Given the description of an element on the screen output the (x, y) to click on. 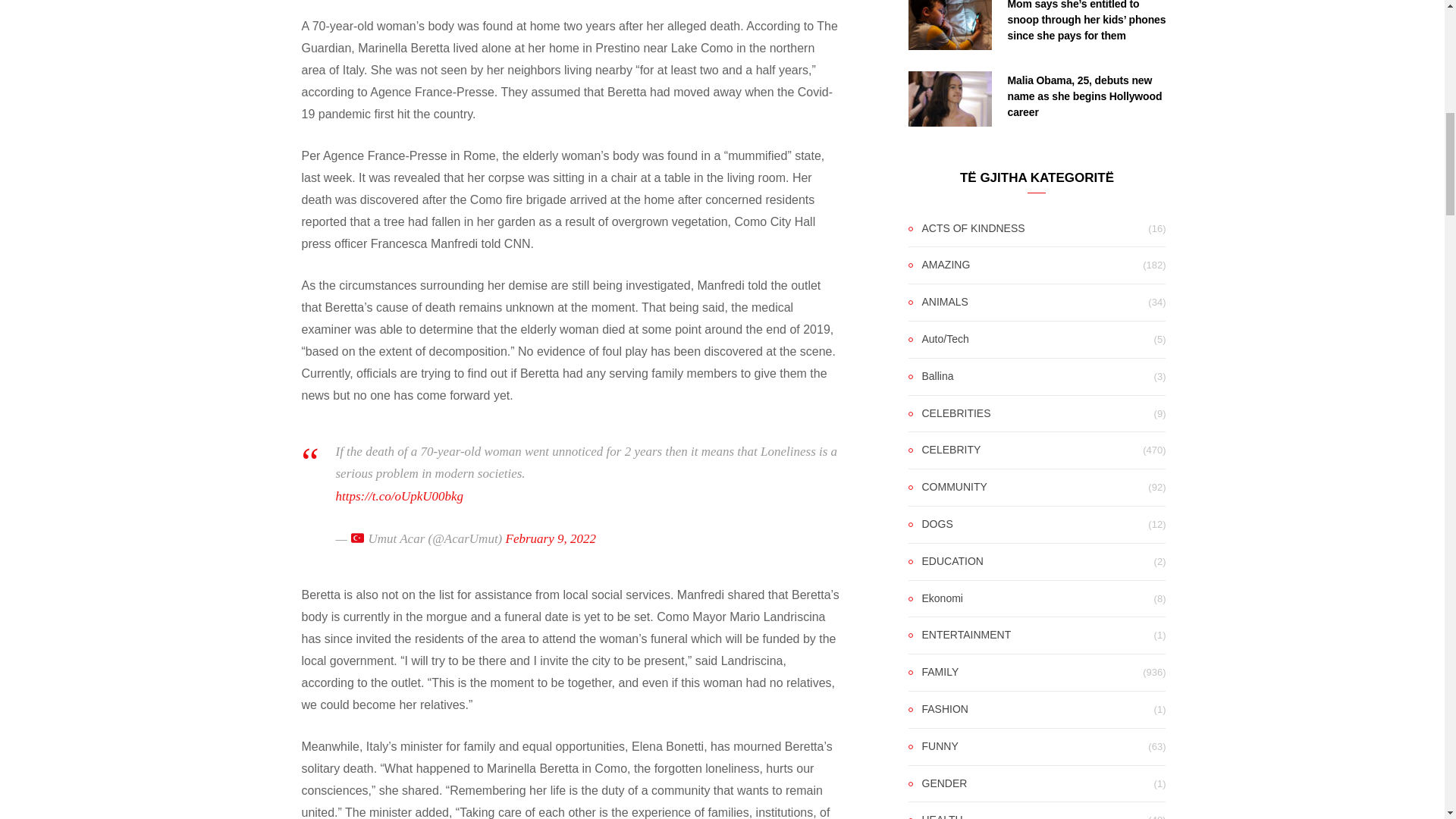
February 9, 2022 (550, 538)
